Given the description of an element on the screen output the (x, y) to click on. 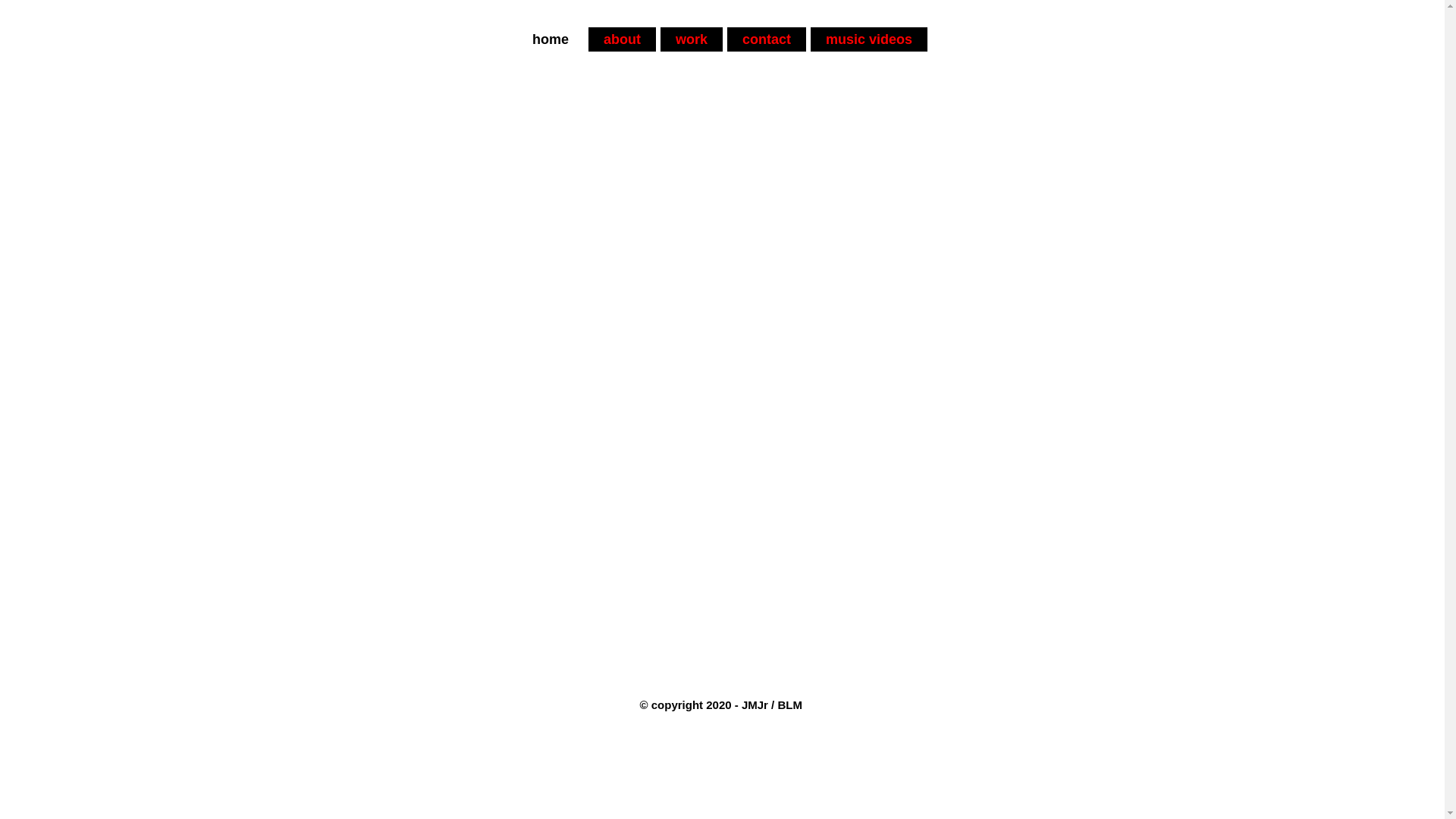
work Element type: text (691, 39)
about Element type: text (621, 39)
contact Element type: text (766, 39)
music videos Element type: text (868, 39)
home Element type: text (550, 39)
